Given the description of an element on the screen output the (x, y) to click on. 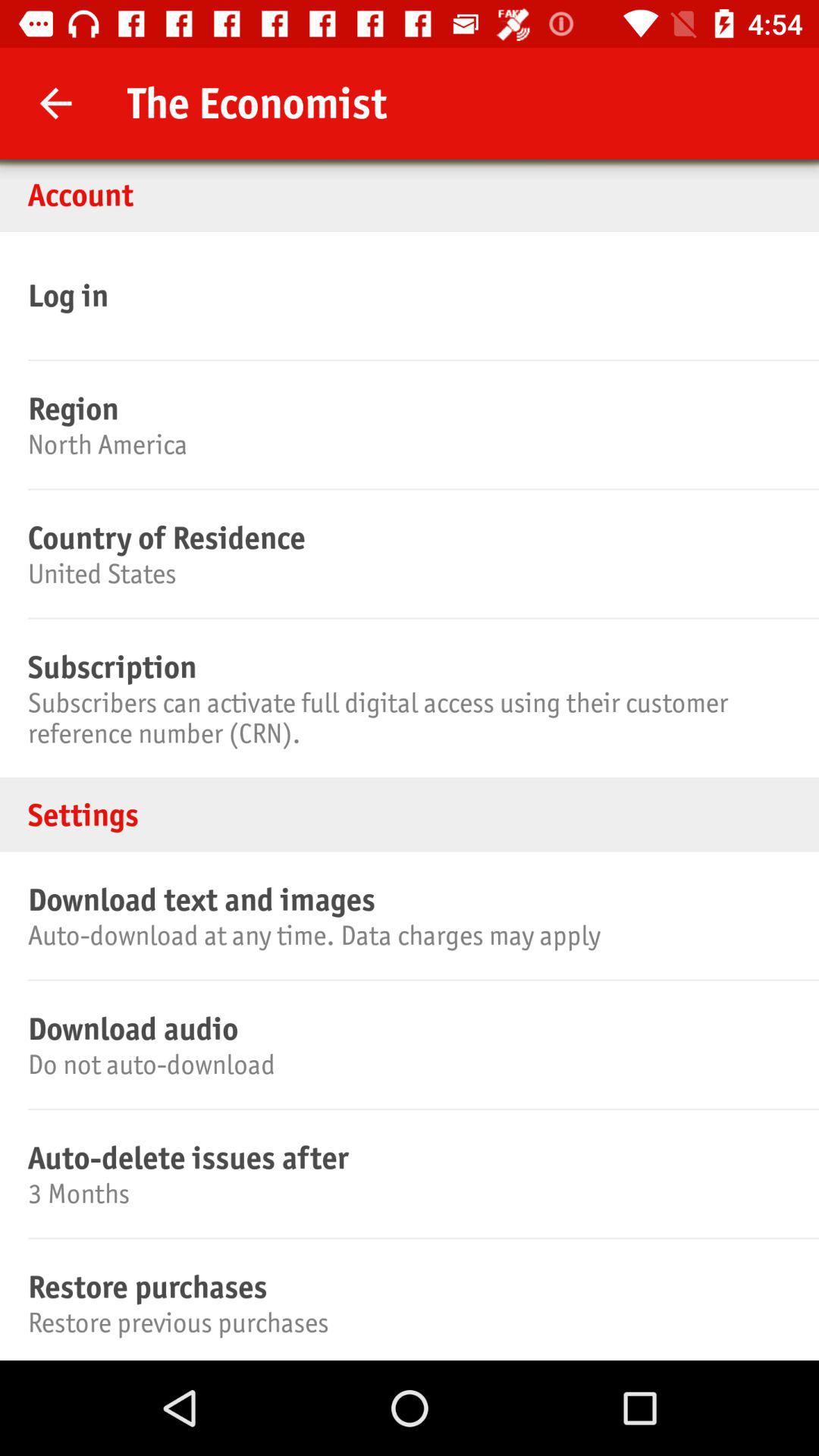
click the account (409, 194)
